Given the description of an element on the screen output the (x, y) to click on. 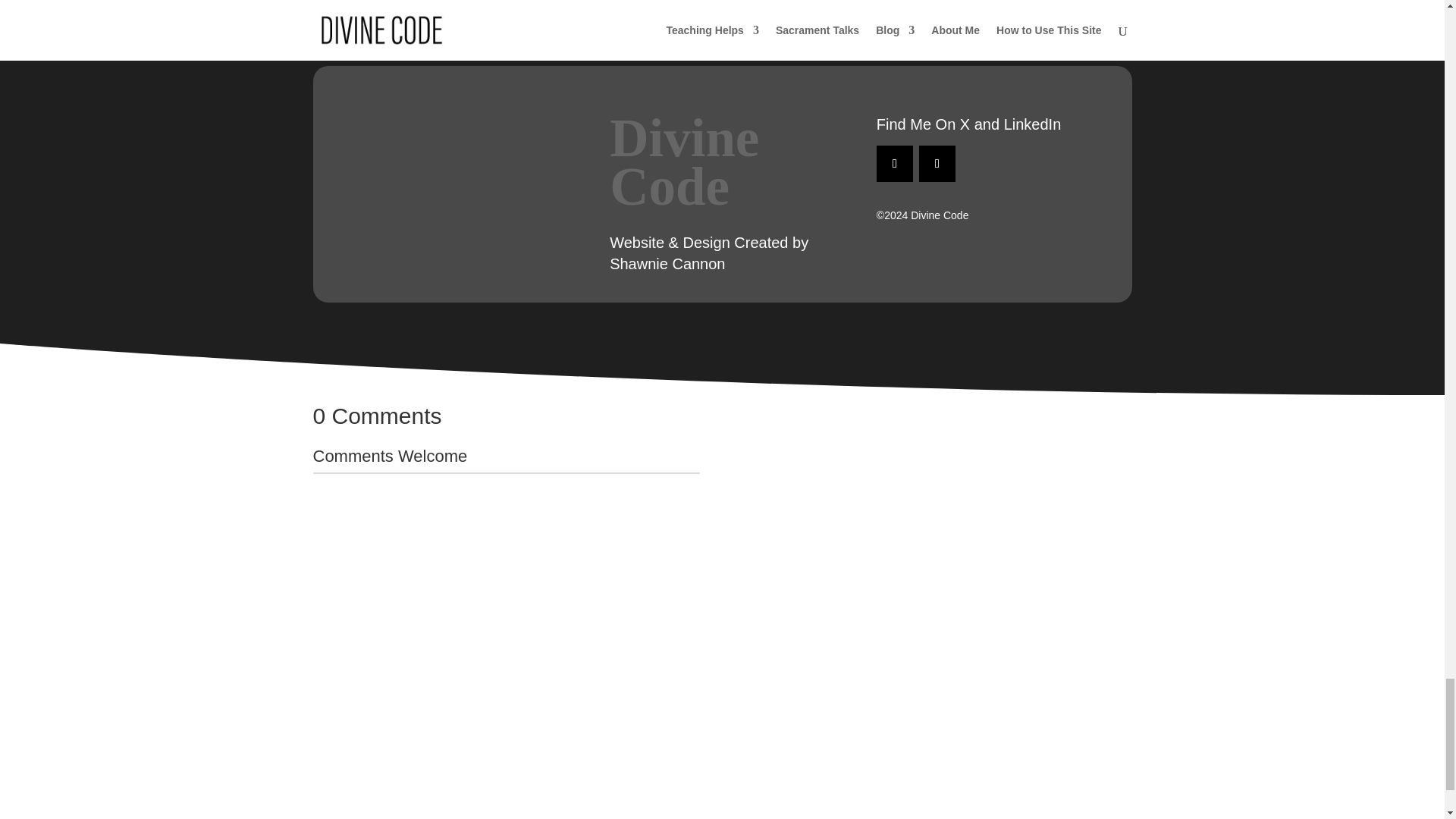
Follow on LinkedIn (936, 163)
Follow on X (894, 163)
Comment Form (505, 635)
